Given the description of an element on the screen output the (x, y) to click on. 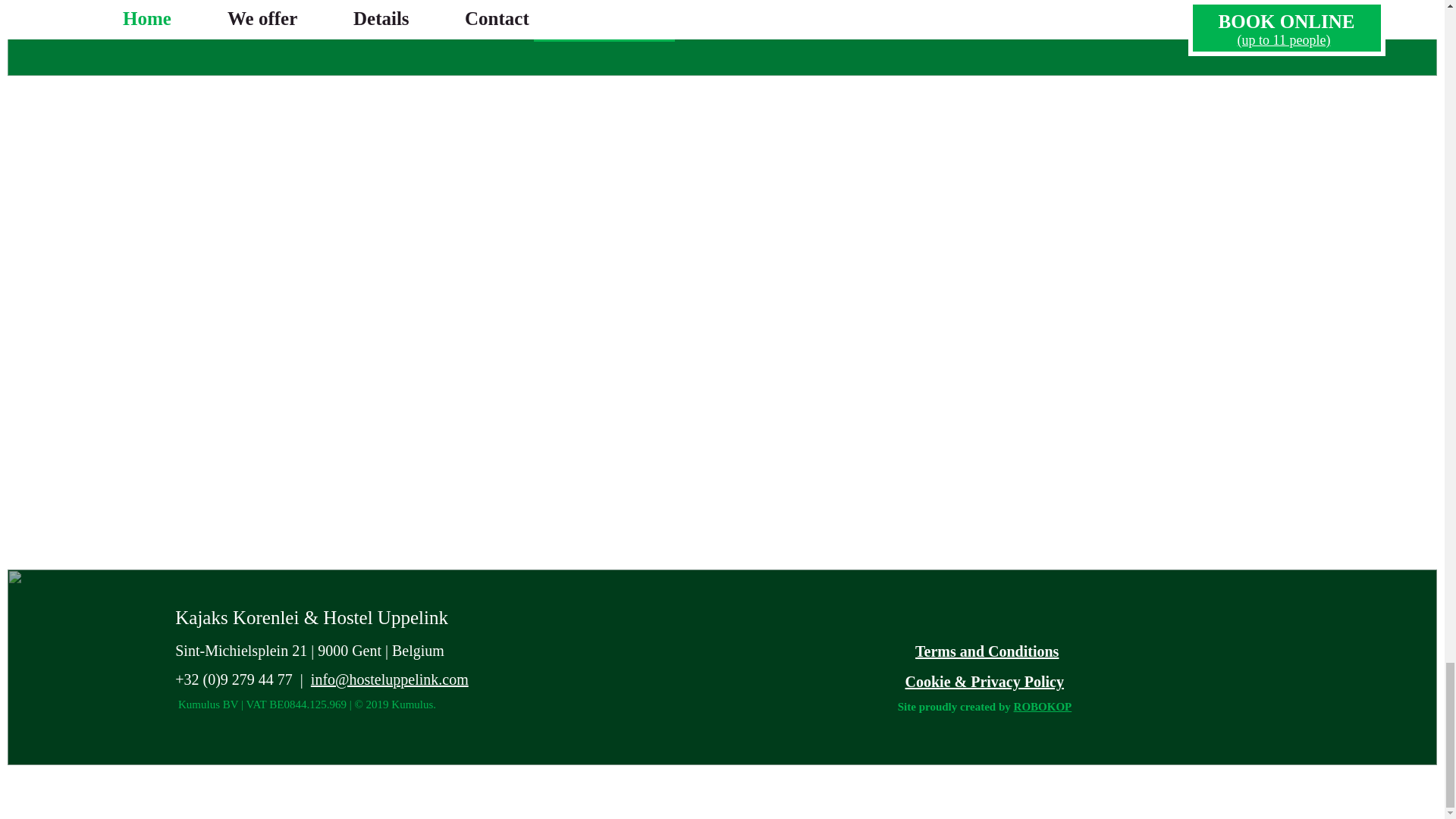
SEND (604, 21)
Terms and Conditions (986, 651)
ROBOKOP (1042, 706)
